Given the description of an element on the screen output the (x, y) to click on. 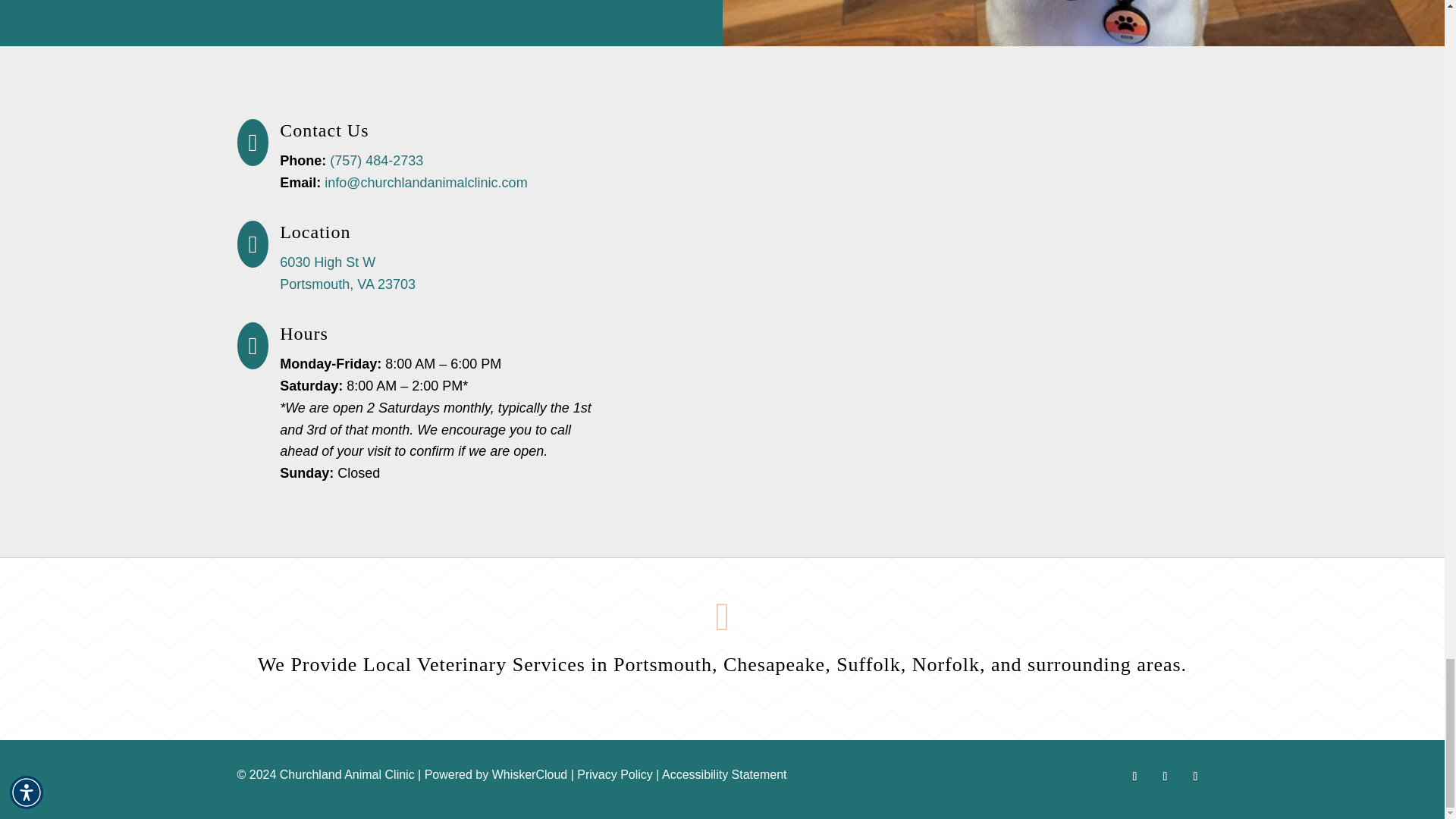
Follow on Google (1194, 776)
Follow on Facebook (1134, 776)
Follow on Youtube (1164, 776)
